Given the description of an element on the screen output the (x, y) to click on. 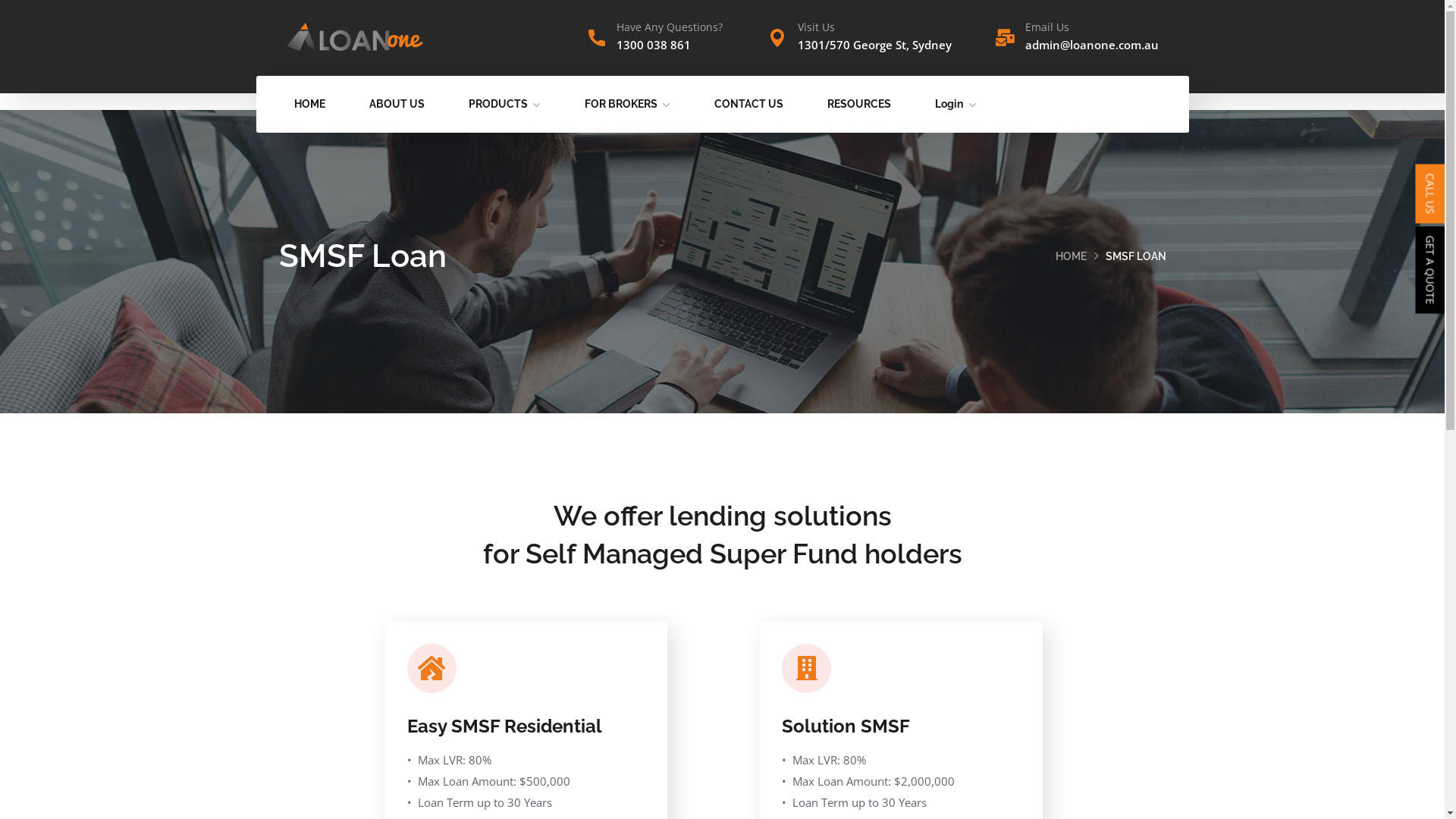
PRODUCTS Element type: text (504, 104)
Login Element type: text (954, 104)
CONTACT US Element type: text (748, 104)
FOR BROKERS Element type: text (626, 104)
Have Any Questions? Element type: text (668, 26)
HOME Element type: text (1070, 256)
ABOUT US Element type: text (395, 104)
Easy SMSF Residential Element type: text (503, 726)
RESOURCES Element type: text (858, 104)
HOME Element type: text (309, 104)
Solution SMSF Element type: text (845, 726)
